Given the description of an element on the screen output the (x, y) to click on. 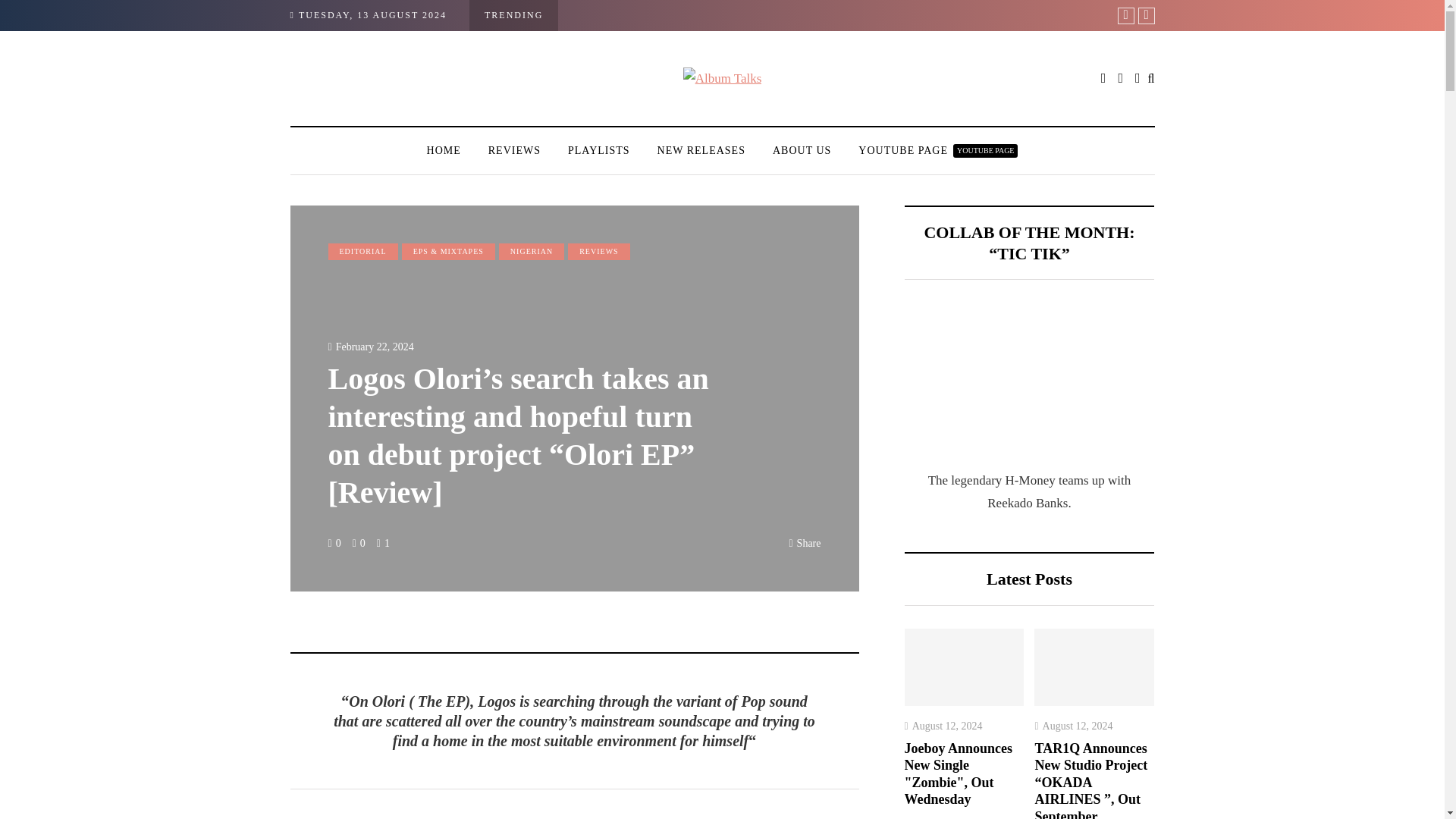
REVIEWS (514, 150)
YouTube Page (937, 150)
NEW RELEASES (700, 150)
HOME (443, 150)
PLAYLISTS (598, 150)
